Given the description of an element on the screen output the (x, y) to click on. 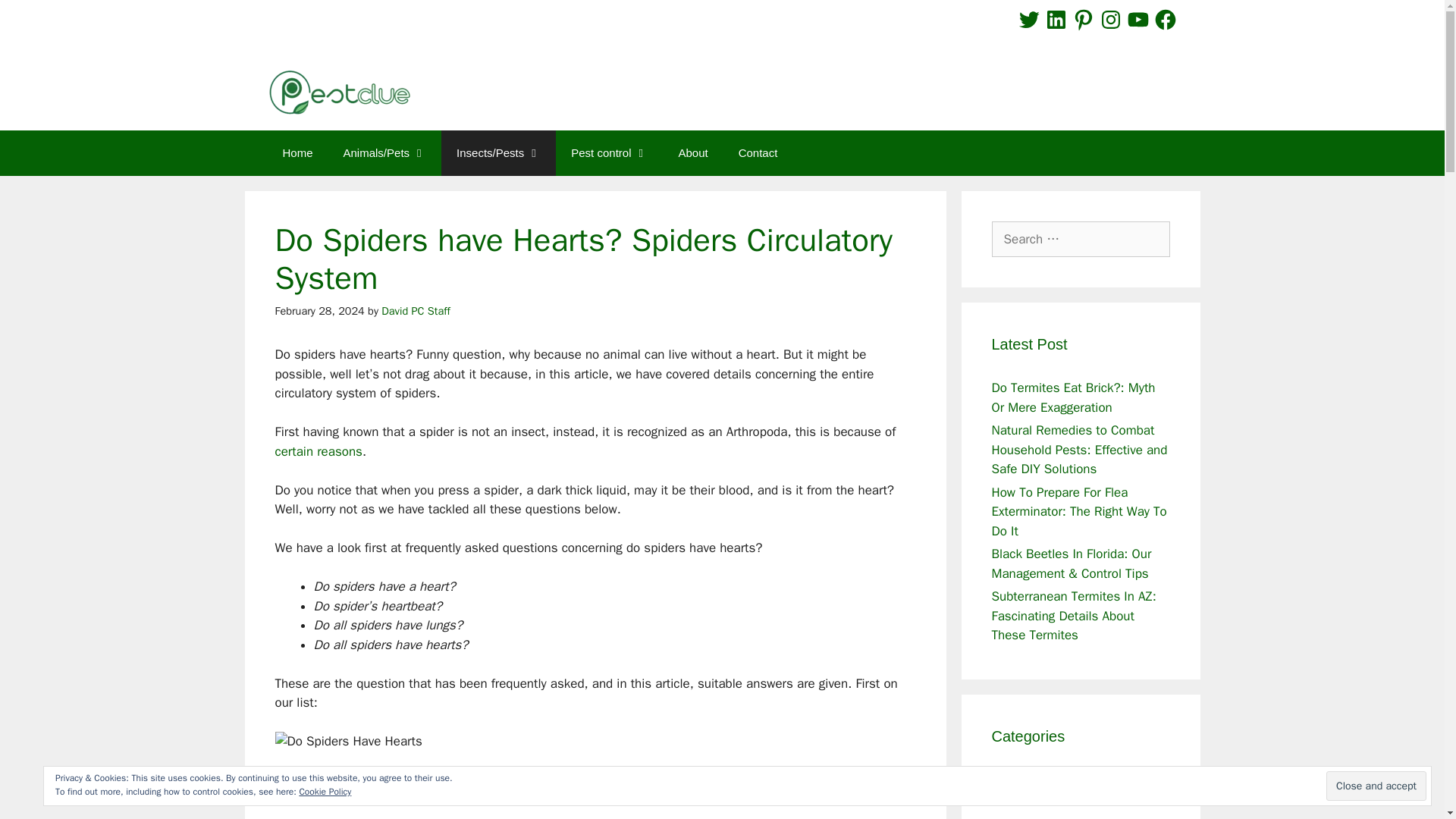
Twitter (1028, 19)
LinkedIn (1055, 19)
View all posts by David PC Staff (415, 309)
Facebook (1164, 19)
Home (296, 153)
Instagram (1110, 19)
Do Spiders Have Hearts? Spiders Circulatory System 1 (433, 775)
Pinterest (1083, 19)
YouTube (1137, 19)
Close and accept (1376, 785)
